Given the description of an element on the screen output the (x, y) to click on. 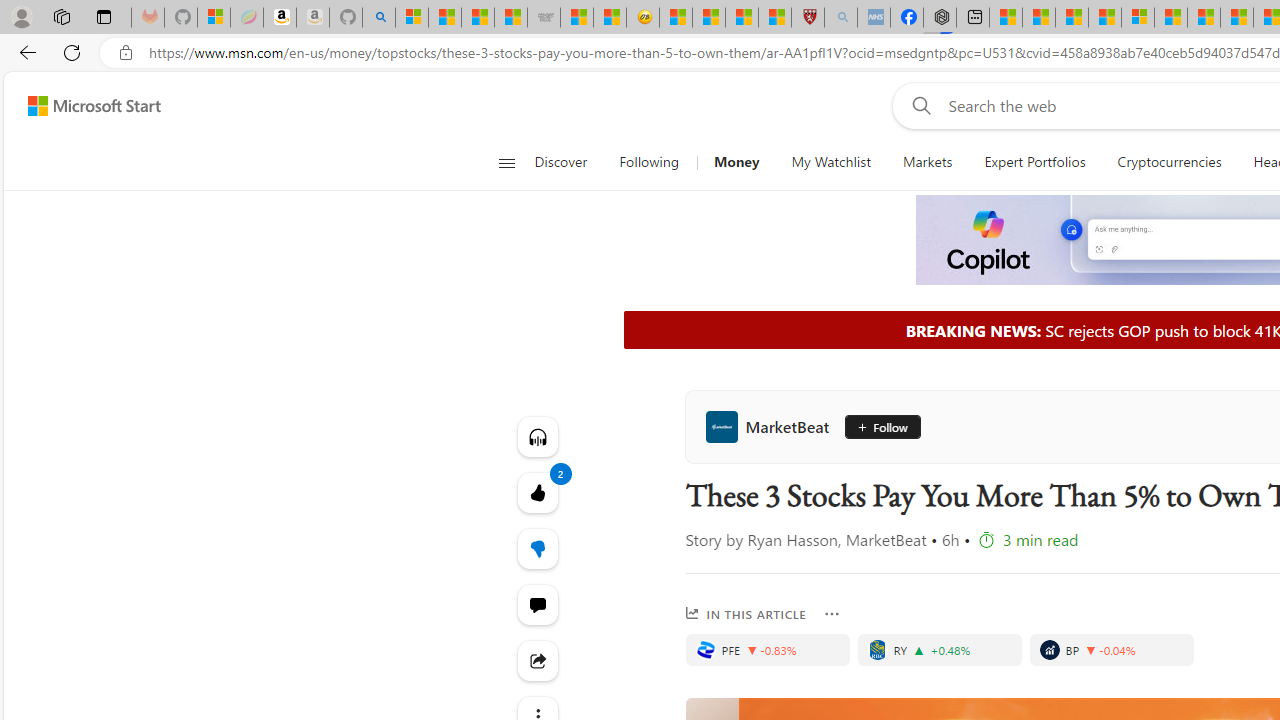
Markets (926, 162)
Class: at-item (537, 660)
Share this story (537, 660)
Cryptocurrencies (1169, 162)
